Given the description of an element on the screen output the (x, y) to click on. 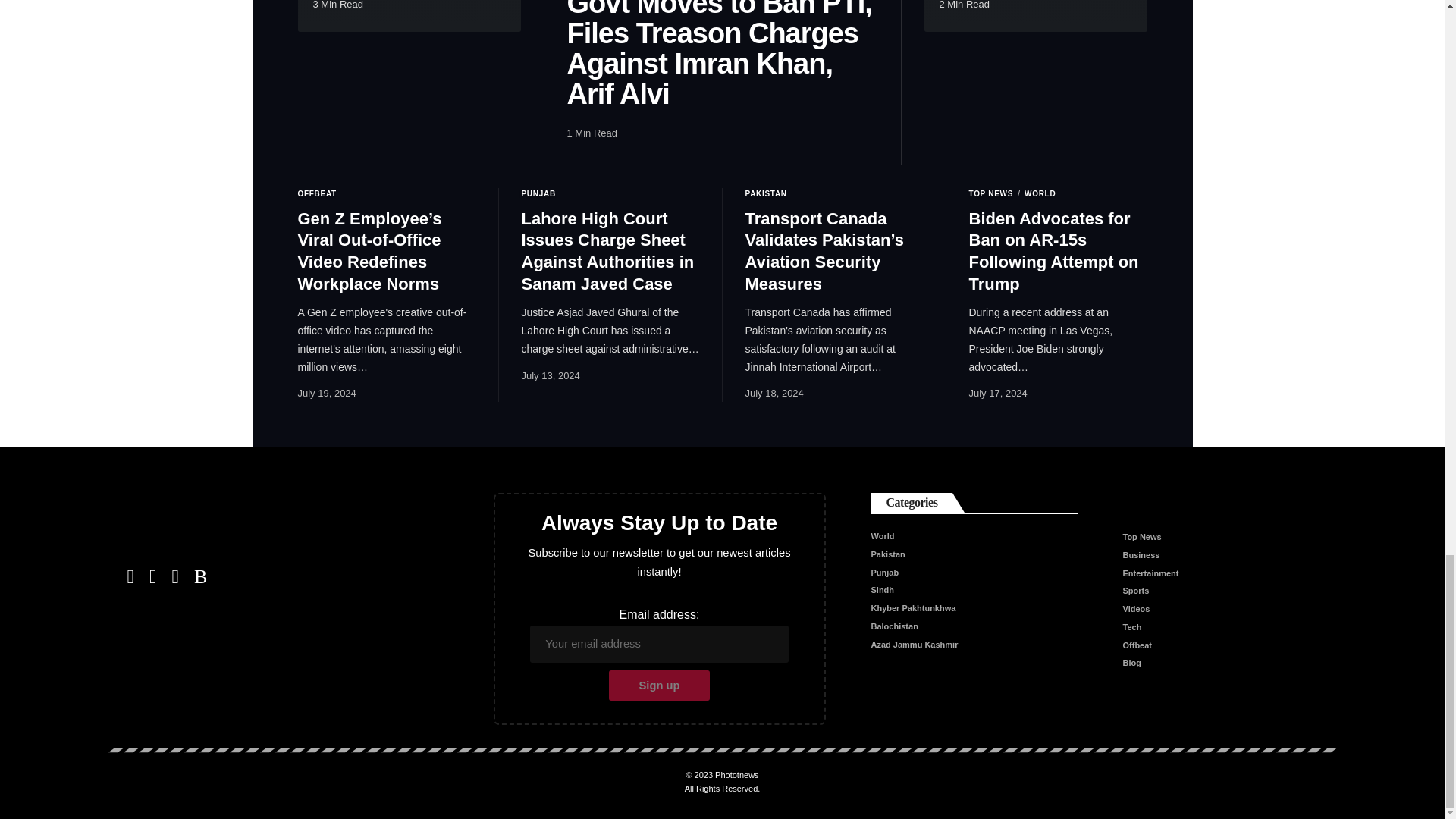
Sign up (659, 685)
